Given the description of an element on the screen output the (x, y) to click on. 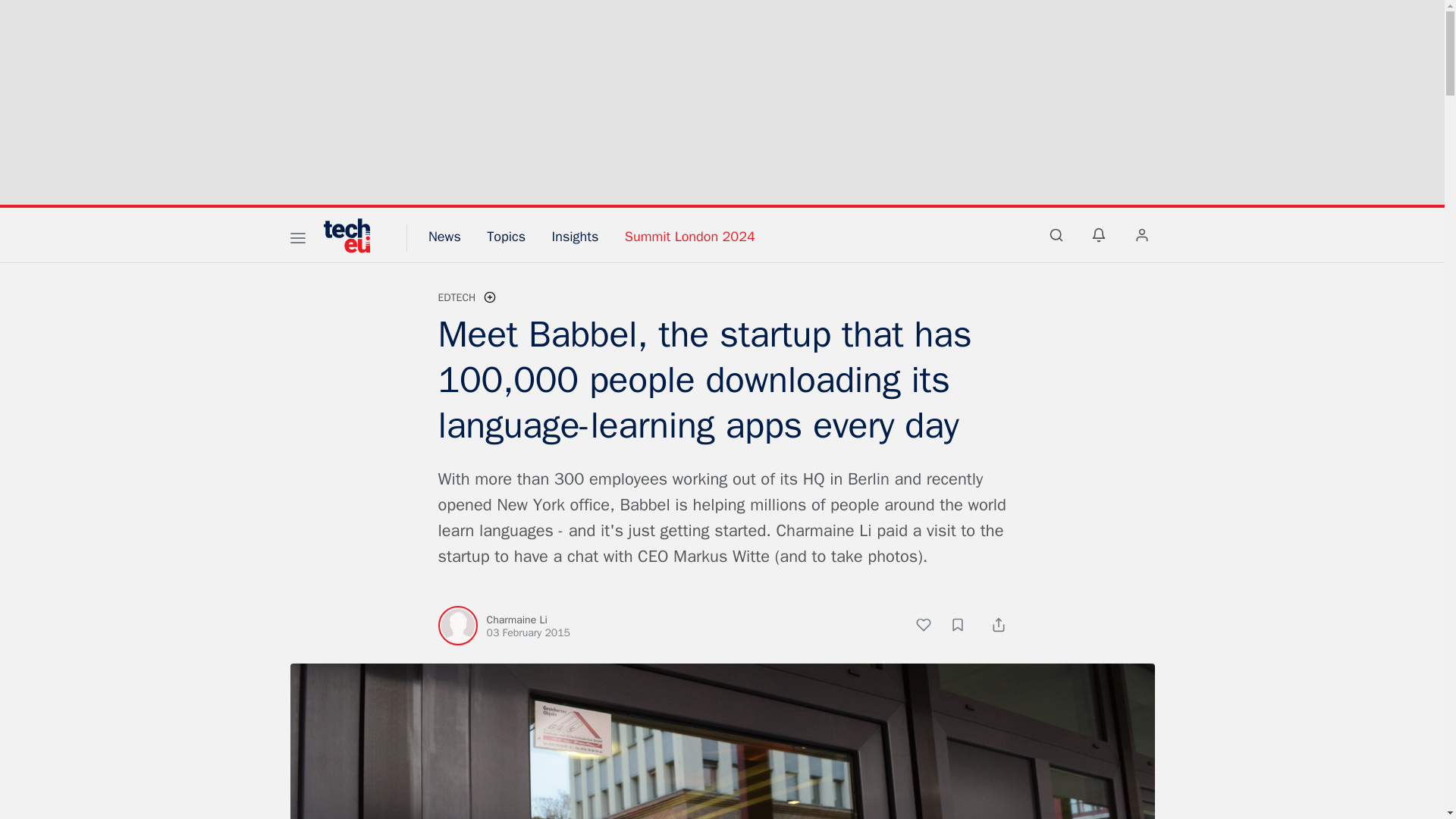
Topics (505, 236)
Like (930, 627)
Edtech (457, 297)
News (444, 236)
Insights (574, 236)
Add to Collection (964, 627)
Summit London 2024 (689, 236)
